Given the description of an element on the screen output the (x, y) to click on. 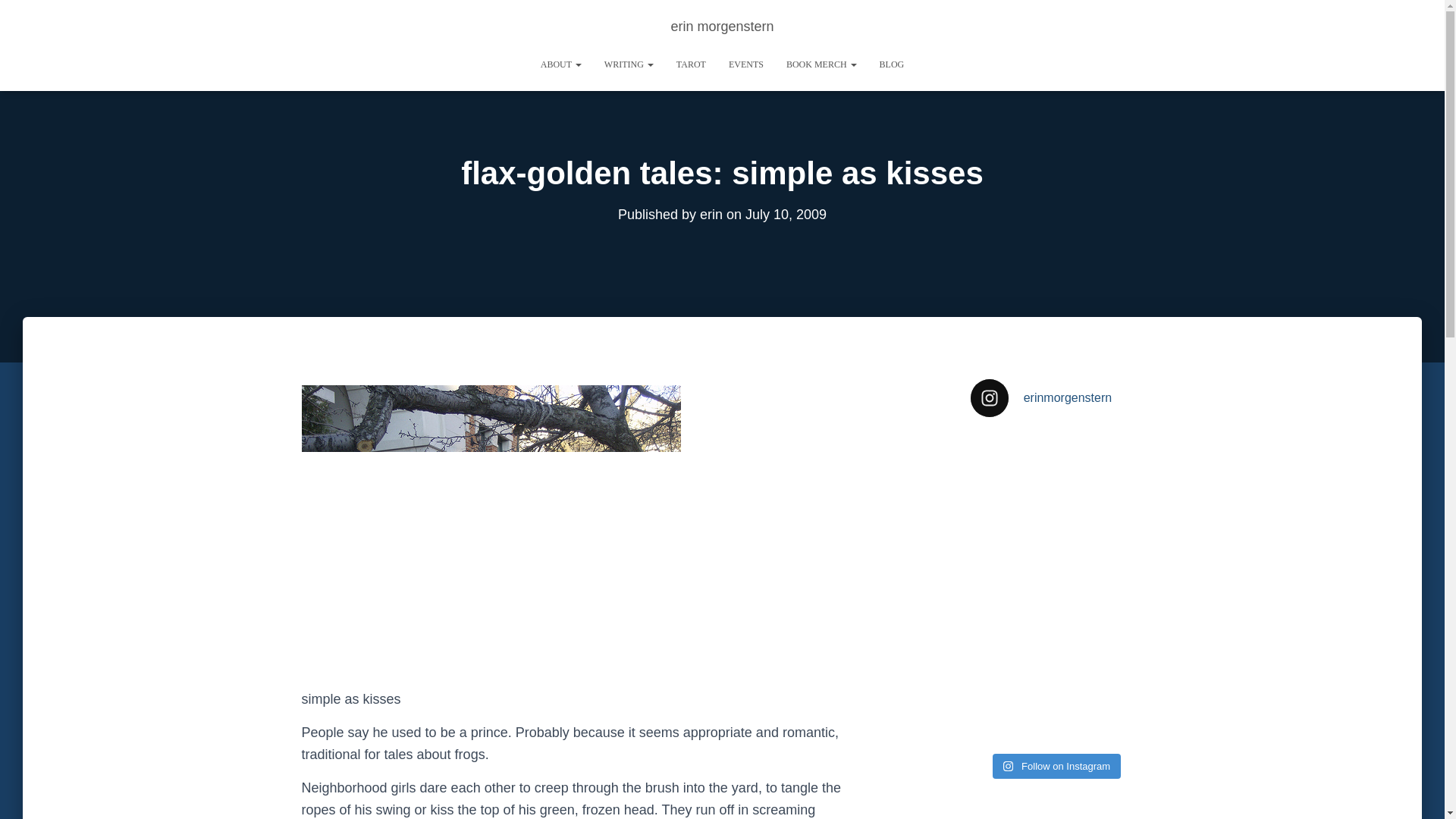
erin (711, 214)
Blog (891, 64)
book merch (820, 64)
BOOK MERCH (820, 64)
ABOUT (560, 64)
writing (628, 64)
About (560, 64)
EVENTS (745, 64)
erin morgenstern (721, 26)
TAROT (691, 64)
tarot (691, 64)
BLOG (891, 64)
erin morgenstern (721, 26)
Events (745, 64)
Follow on Instagram (1056, 766)
